Given the description of an element on the screen output the (x, y) to click on. 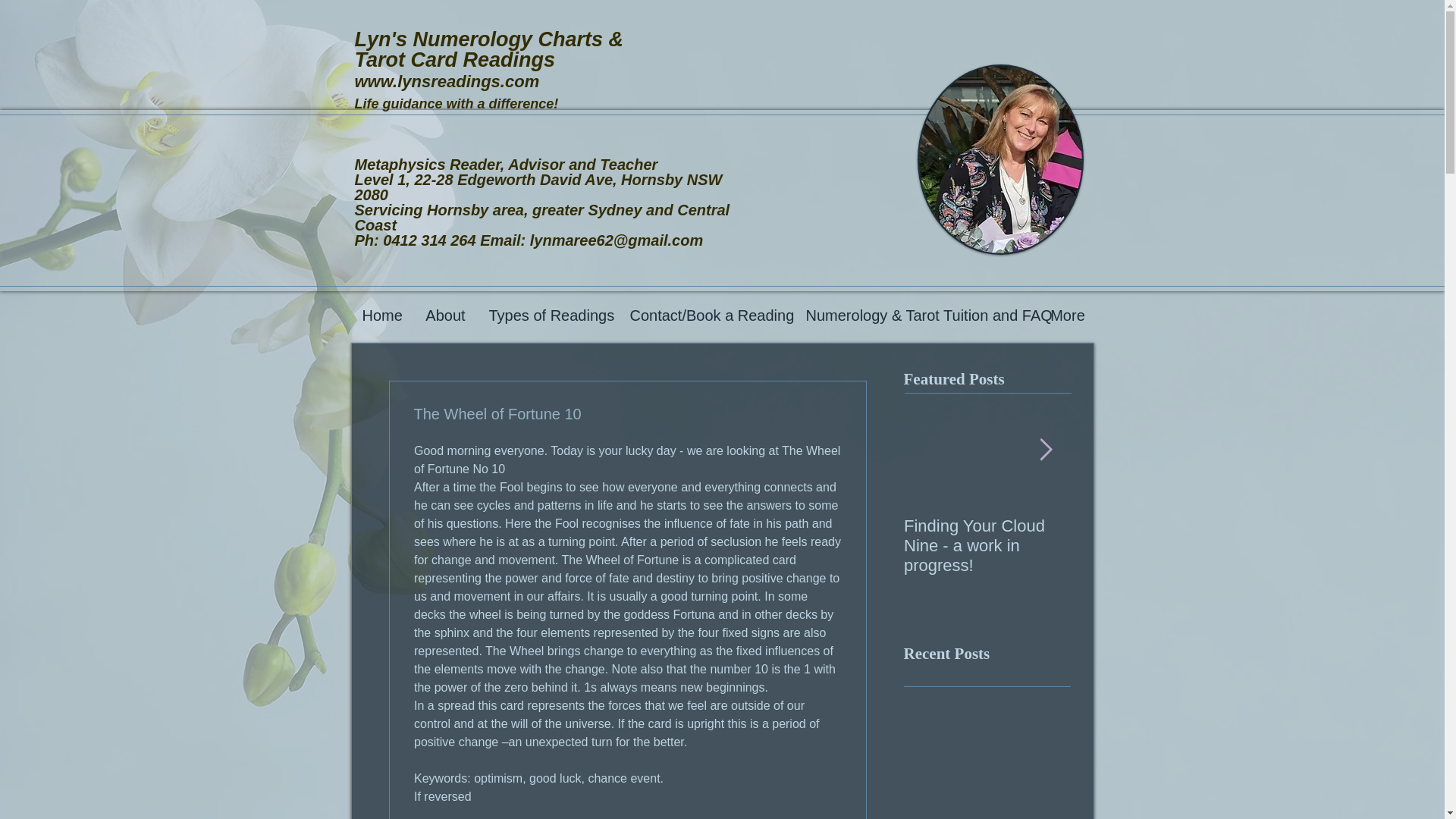
About (445, 315)
Types of Readings (547, 315)
Home (381, 315)
www.lynsreadings.com (447, 81)
Tarot Card Readings (455, 59)
